Given the description of an element on the screen output the (x, y) to click on. 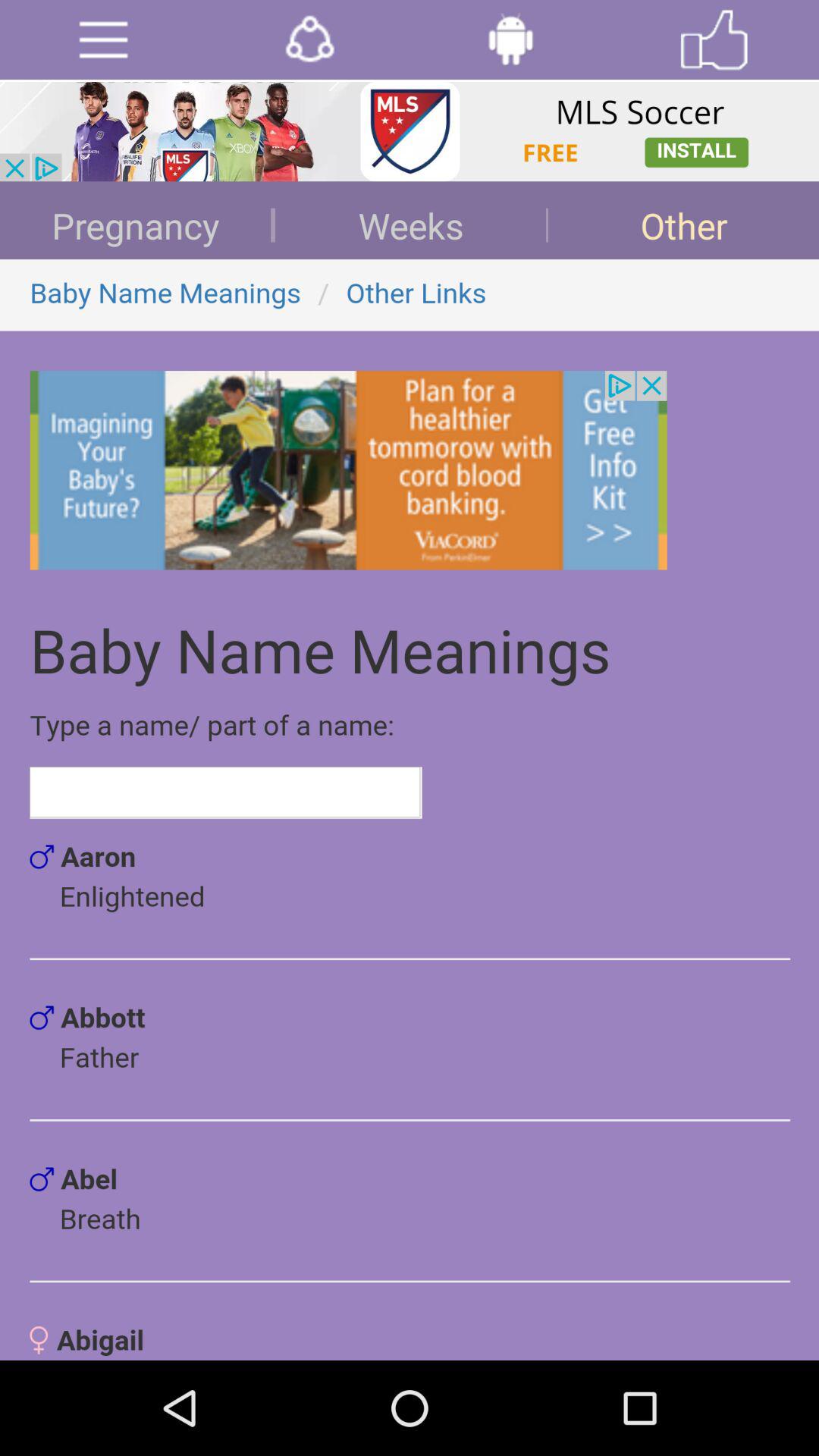
open menu options (103, 39)
